Given the description of an element on the screen output the (x, y) to click on. 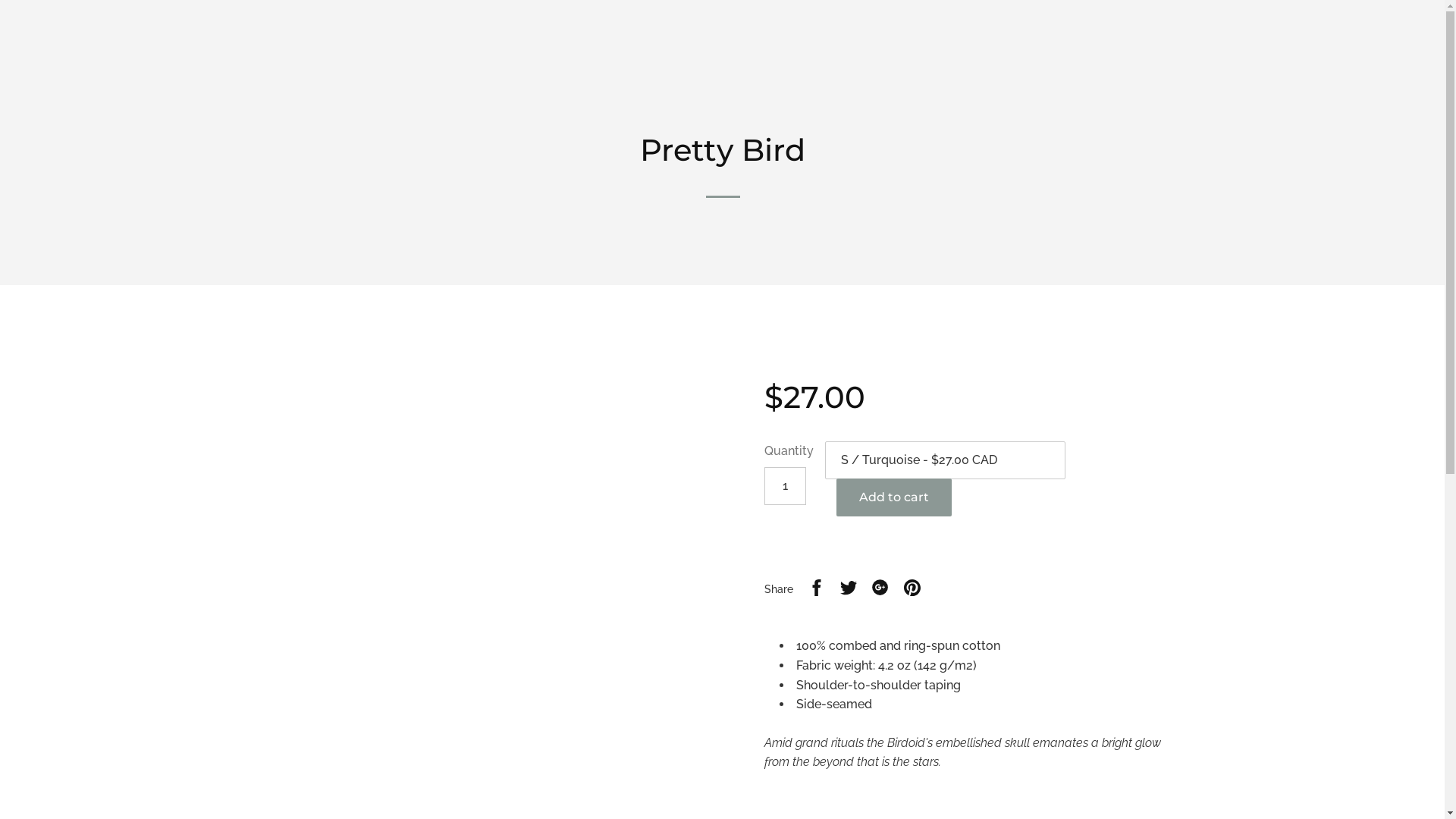
Share on Pinterest Element type: text (911, 589)
Add to cart Element type: text (893, 497)
Share on Google Element type: text (880, 589)
Share on Twitter Element type: text (848, 589)
Share on Facebook Element type: text (816, 589)
